Given the description of an element on the screen output the (x, y) to click on. 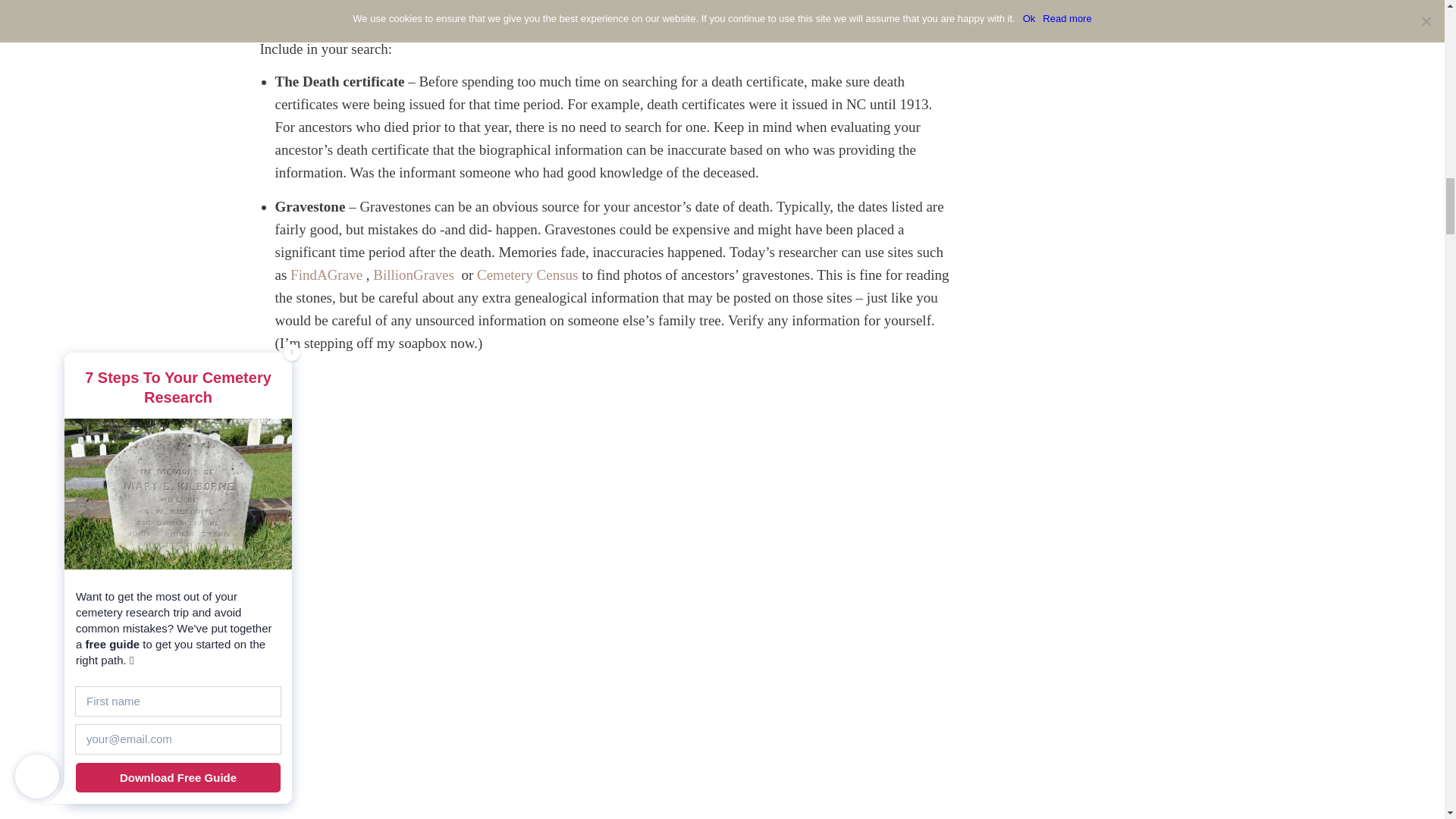
FindAGrave (325, 274)
Cemetery Census (527, 274)
BillionGraves (413, 274)
